Given the description of an element on the screen output the (x, y) to click on. 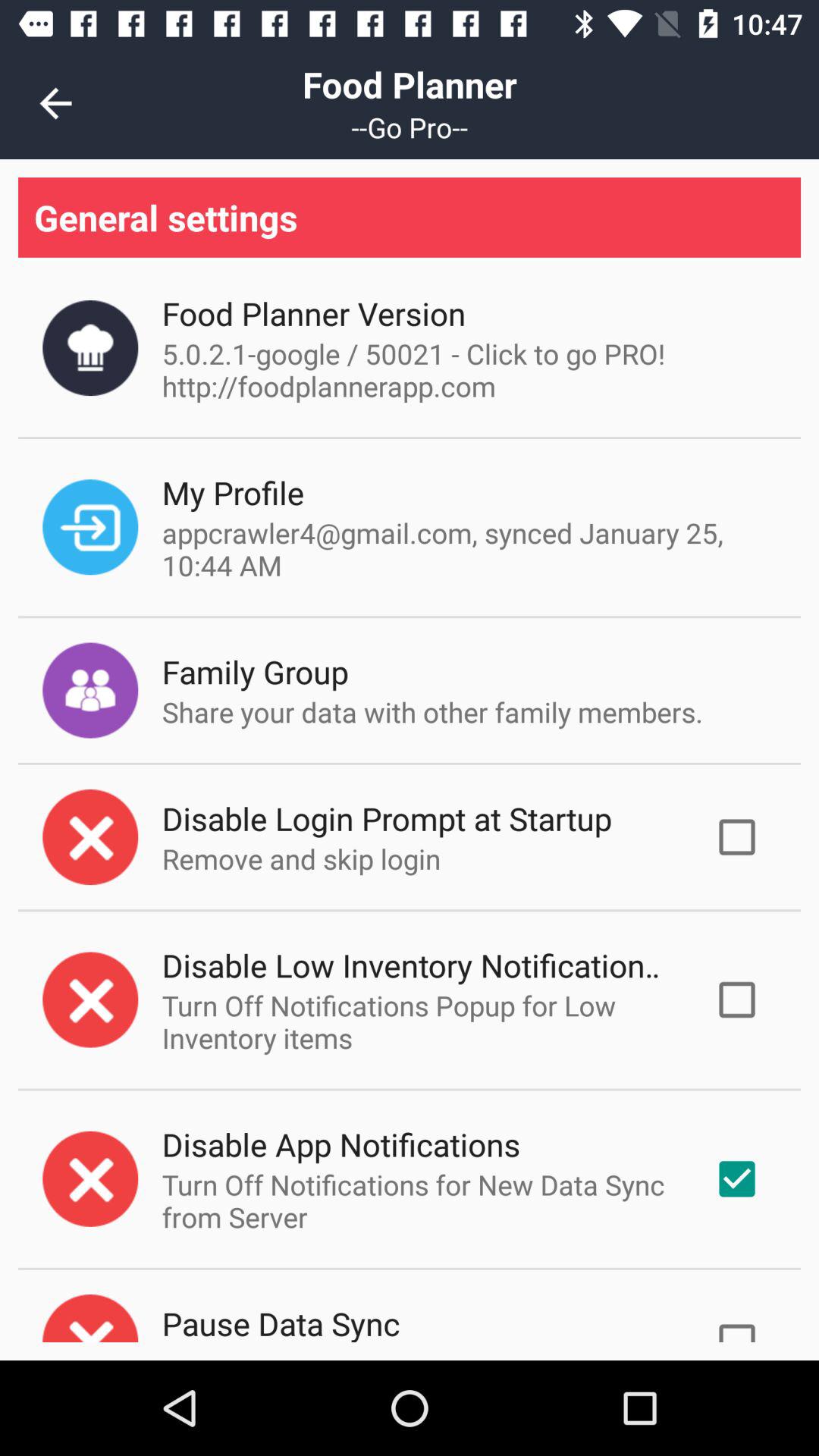
jump until the disable login prompt (386, 818)
